Given the description of an element on the screen output the (x, y) to click on. 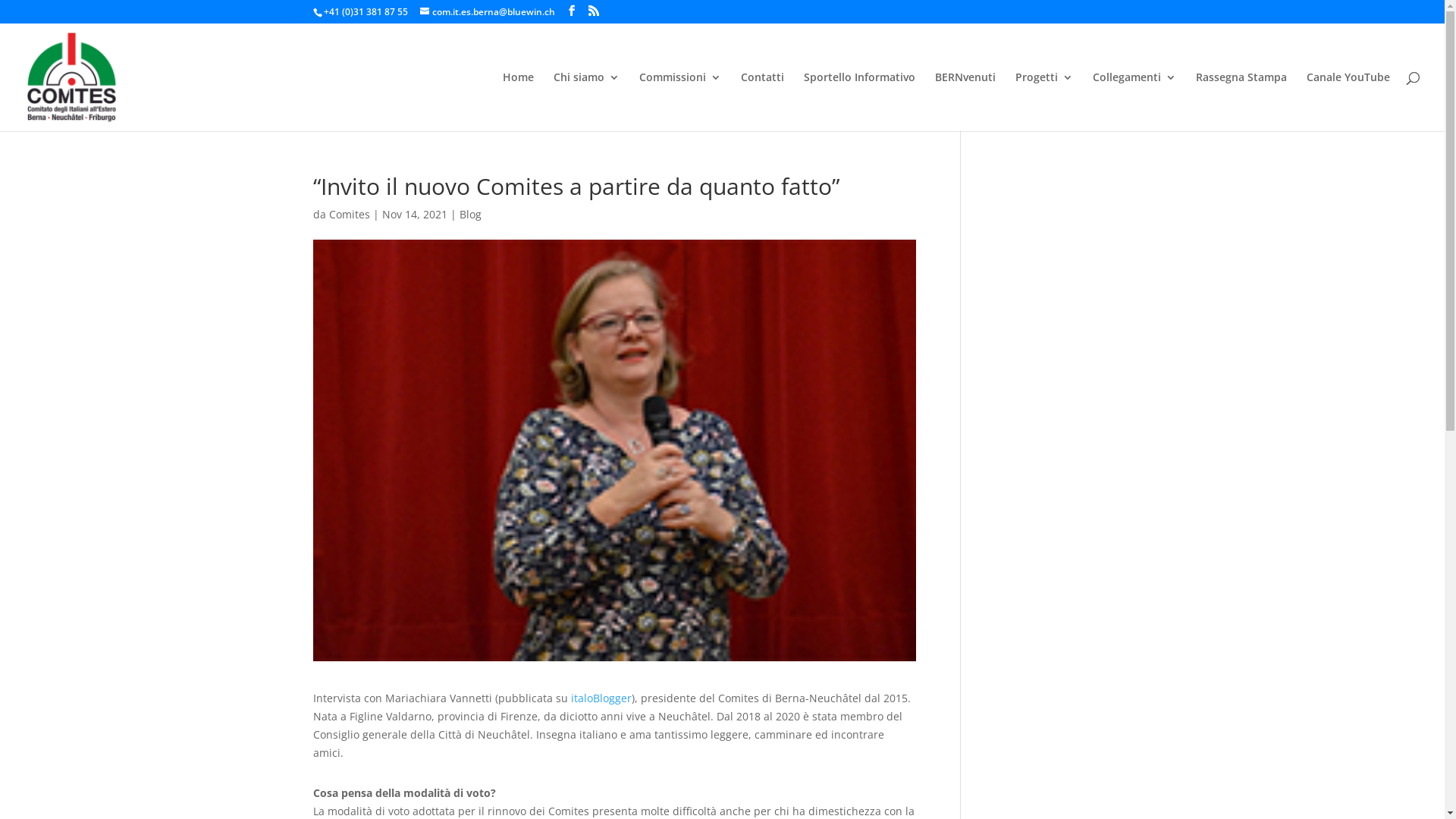
Sportello Informativo Element type: text (859, 101)
Home Element type: text (517, 101)
Chi siamo Element type: text (586, 101)
BERNvenuti Element type: text (965, 101)
Canale YouTube Element type: text (1348, 101)
Progetti Element type: text (1044, 101)
Blog Element type: text (470, 214)
com.it.es.berna@bluewin.ch Element type: text (487, 11)
Comites Element type: text (349, 214)
Collegamenti Element type: text (1134, 101)
Contatti Element type: text (762, 101)
Commissioni Element type: text (680, 101)
Rassegna Stampa Element type: text (1240, 101)
italoBlogger Element type: text (600, 697)
